Given the description of an element on the screen output the (x, y) to click on. 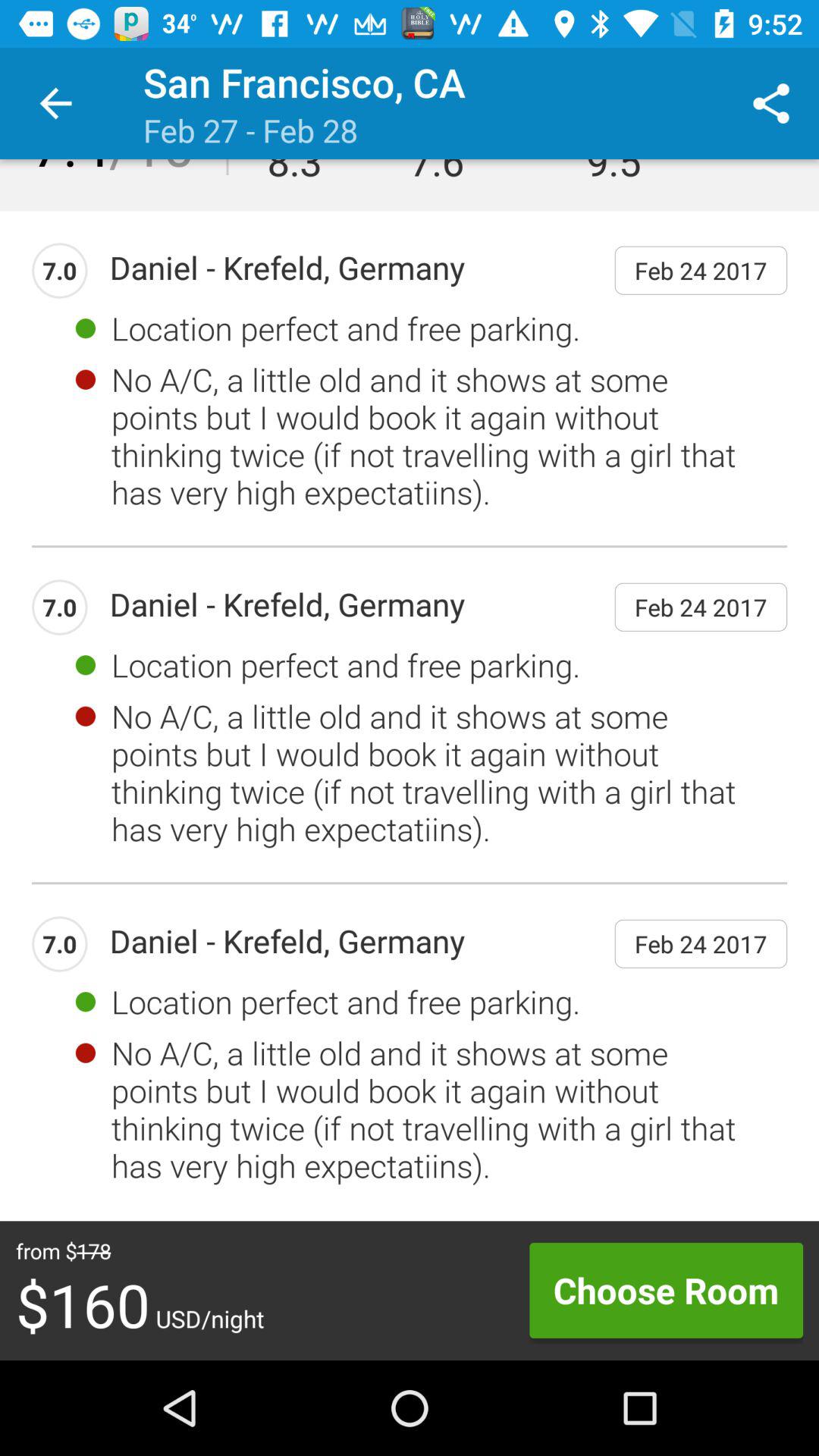
select the icon to the right of location
9.5 icon (771, 103)
